Given the description of an element on the screen output the (x, y) to click on. 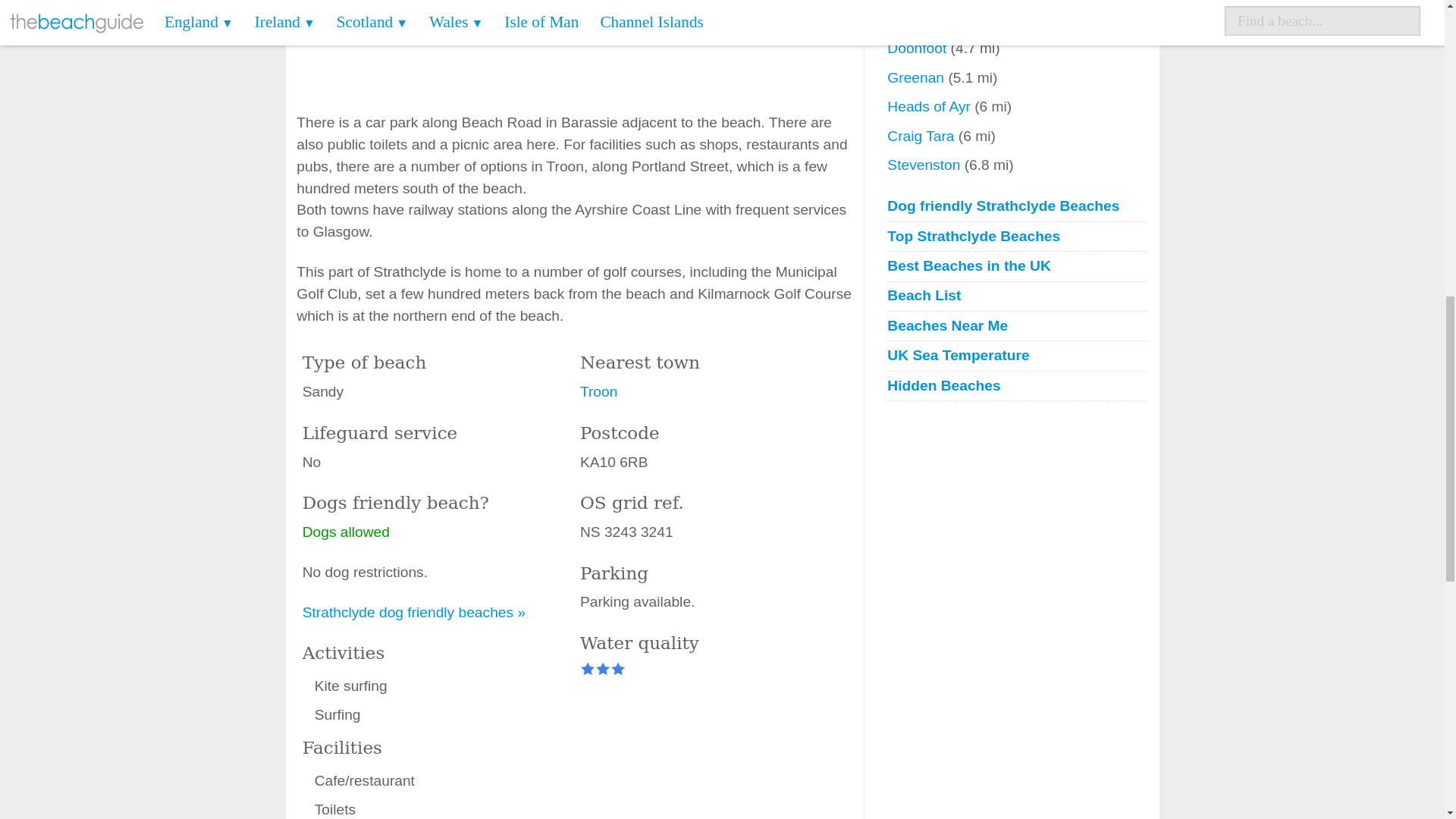
Doonfoot (918, 48)
Acceptable (617, 669)
Best Beaches in the UK (1016, 266)
Top Strathclyde Beaches (1016, 237)
Heads of Ayr (930, 106)
Stevenston (924, 164)
Craig Tara (922, 135)
Greenan (916, 77)
Dog friendly Strathclyde Beaches (1016, 206)
Troon (598, 391)
